Given the description of an element on the screen output the (x, y) to click on. 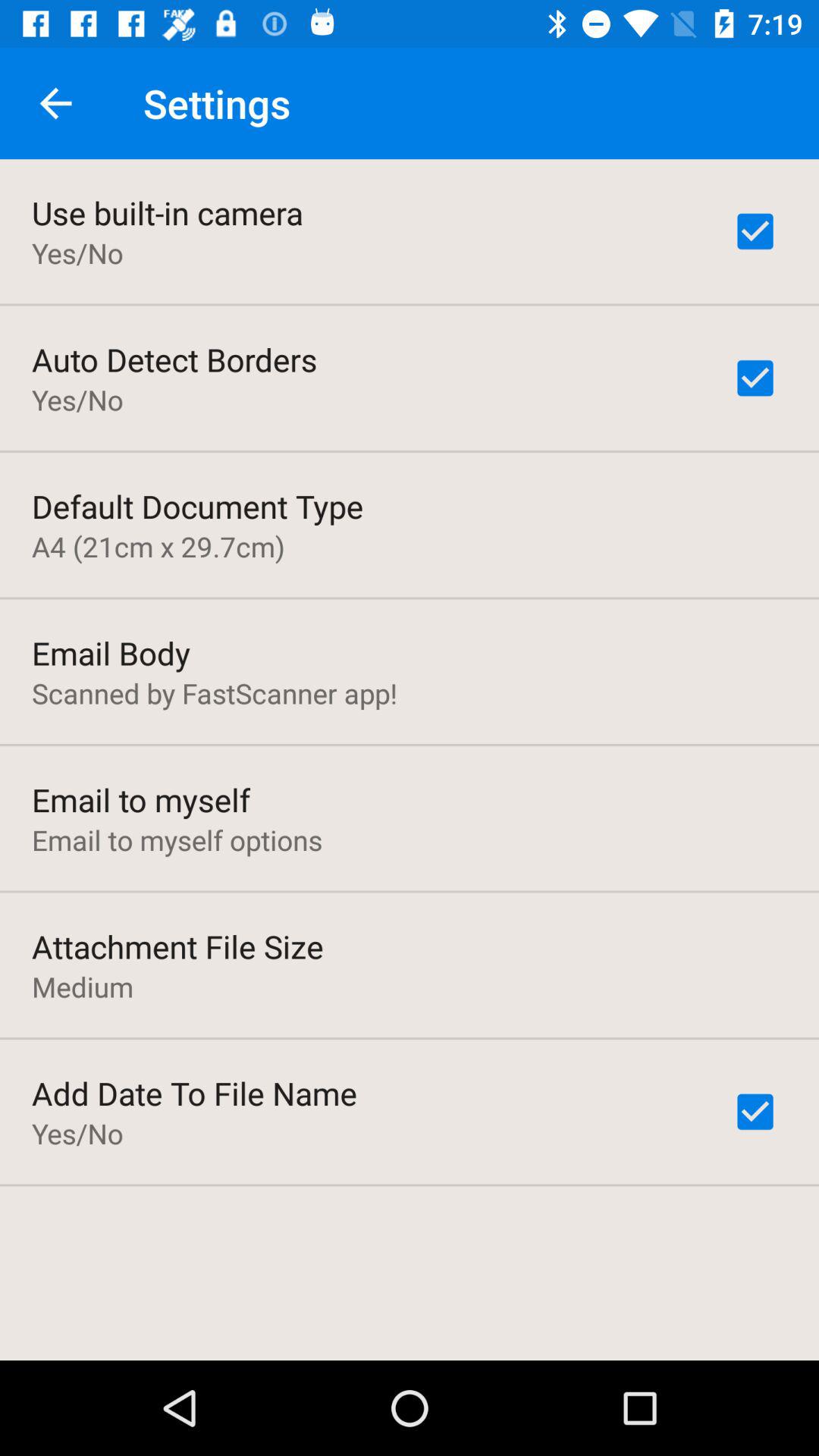
open email body item (110, 652)
